Given the description of an element on the screen output the (x, y) to click on. 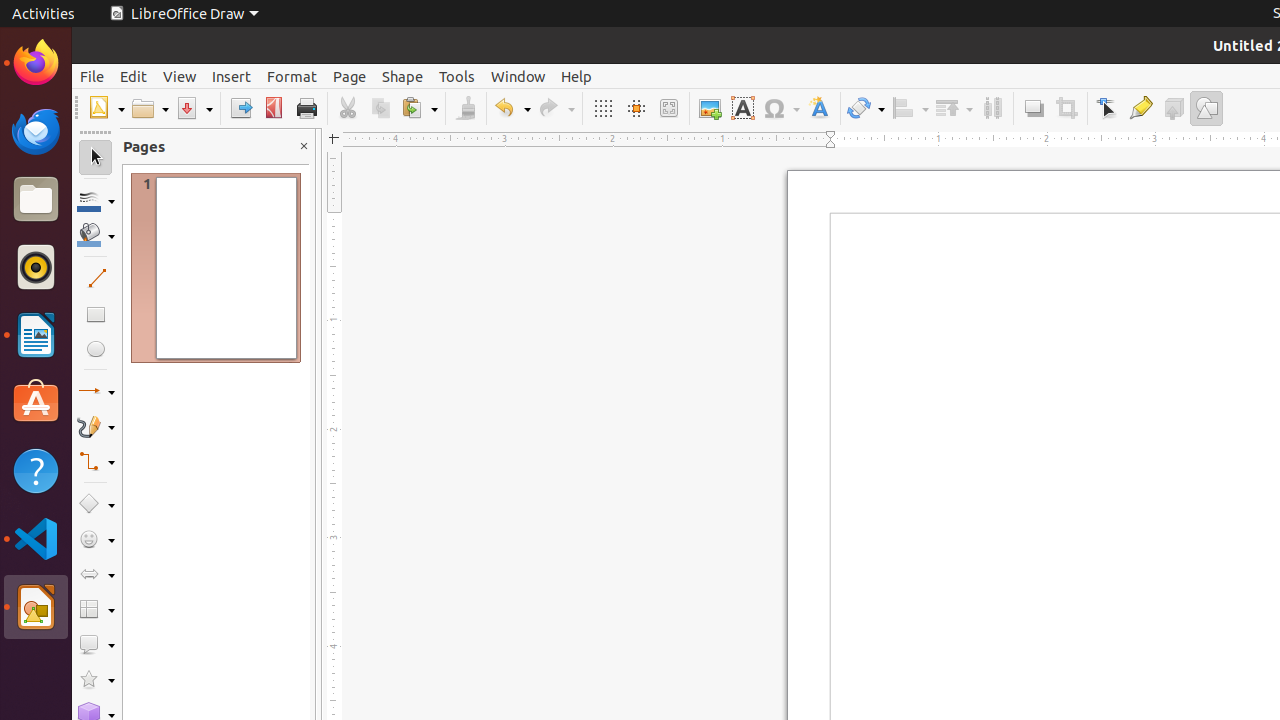
Help Element type: menu (576, 76)
Transformations Element type: push-button (866, 108)
Crop Element type: push-button (1066, 108)
Star Shapes Element type: push-button (96, 679)
Lines and Arrows Element type: push-button (96, 391)
